Given the description of an element on the screen output the (x, y) to click on. 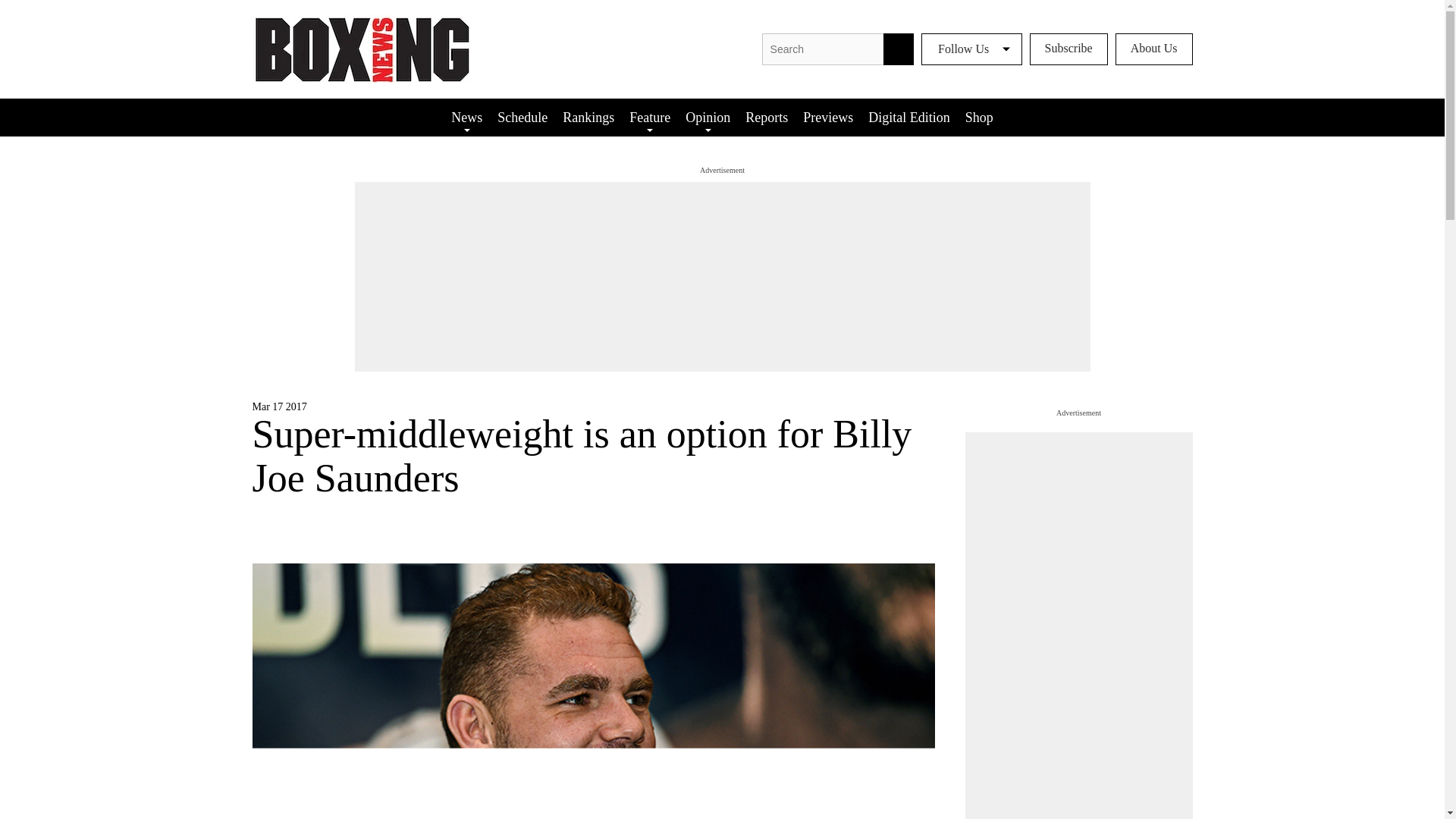
Schedule (521, 117)
About Us (1153, 49)
Digital Edition (909, 117)
Reports (766, 117)
Opinion (708, 117)
News (466, 117)
Previews (827, 117)
Feature (649, 117)
Subscribe (1068, 49)
Shop (979, 117)
Follow Us (971, 49)
Search (898, 49)
Rankings (587, 117)
